Given the description of an element on the screen output the (x, y) to click on. 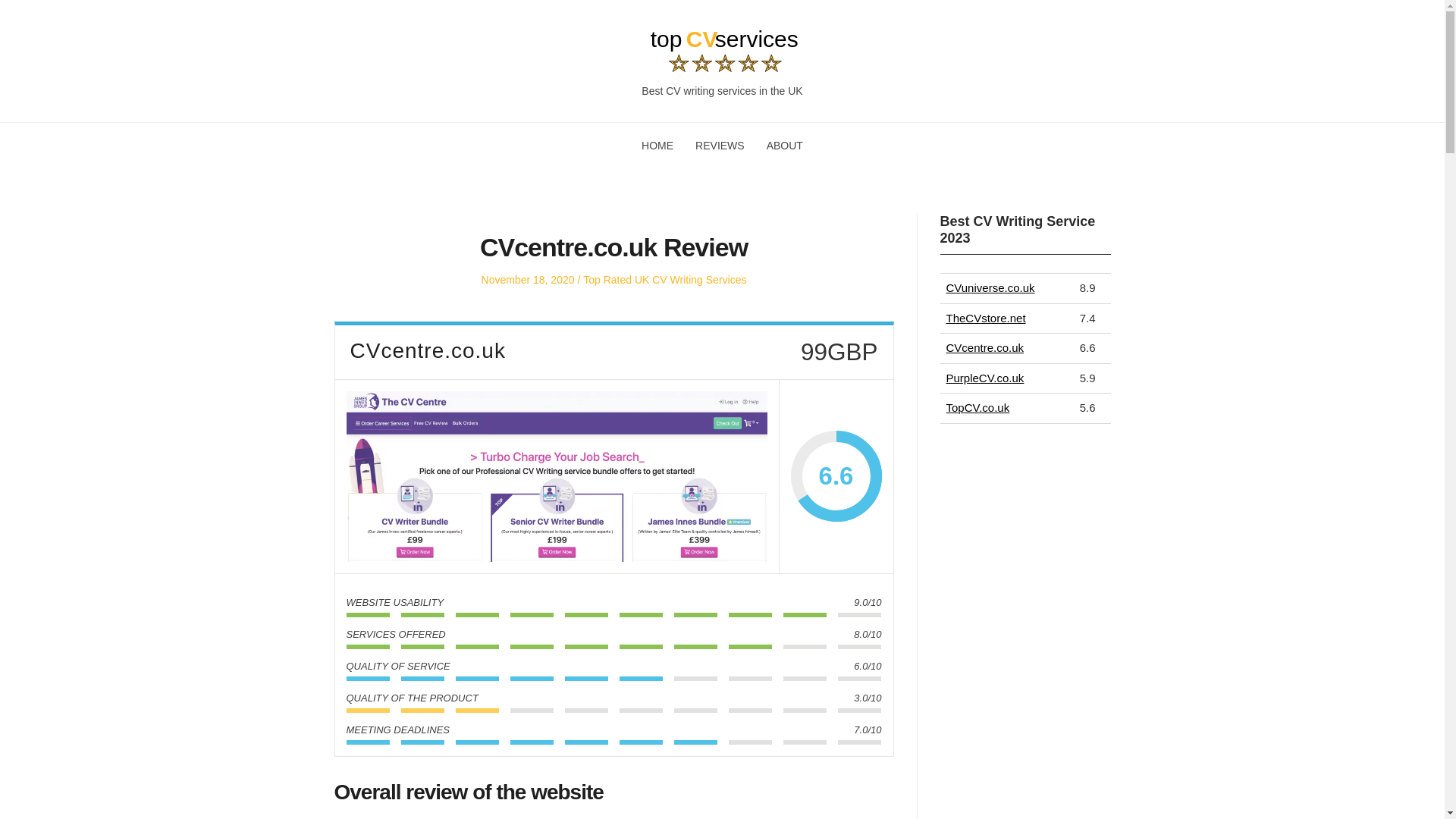
Top Rated UK CV Writing Services (664, 279)
TheCVstore.net (986, 318)
REVIEWS (719, 145)
CVcentre.co.uk (556, 476)
TopCV.co.uk (978, 407)
CVuniverse.co.uk (990, 287)
TopCVservices.co.uk (396, 106)
November 18, 2020 (528, 279)
CVcentre.co.uk (985, 347)
PurpleCV.co.uk (985, 377)
ABOUT (785, 145)
HOME (657, 145)
